Given the description of an element on the screen output the (x, y) to click on. 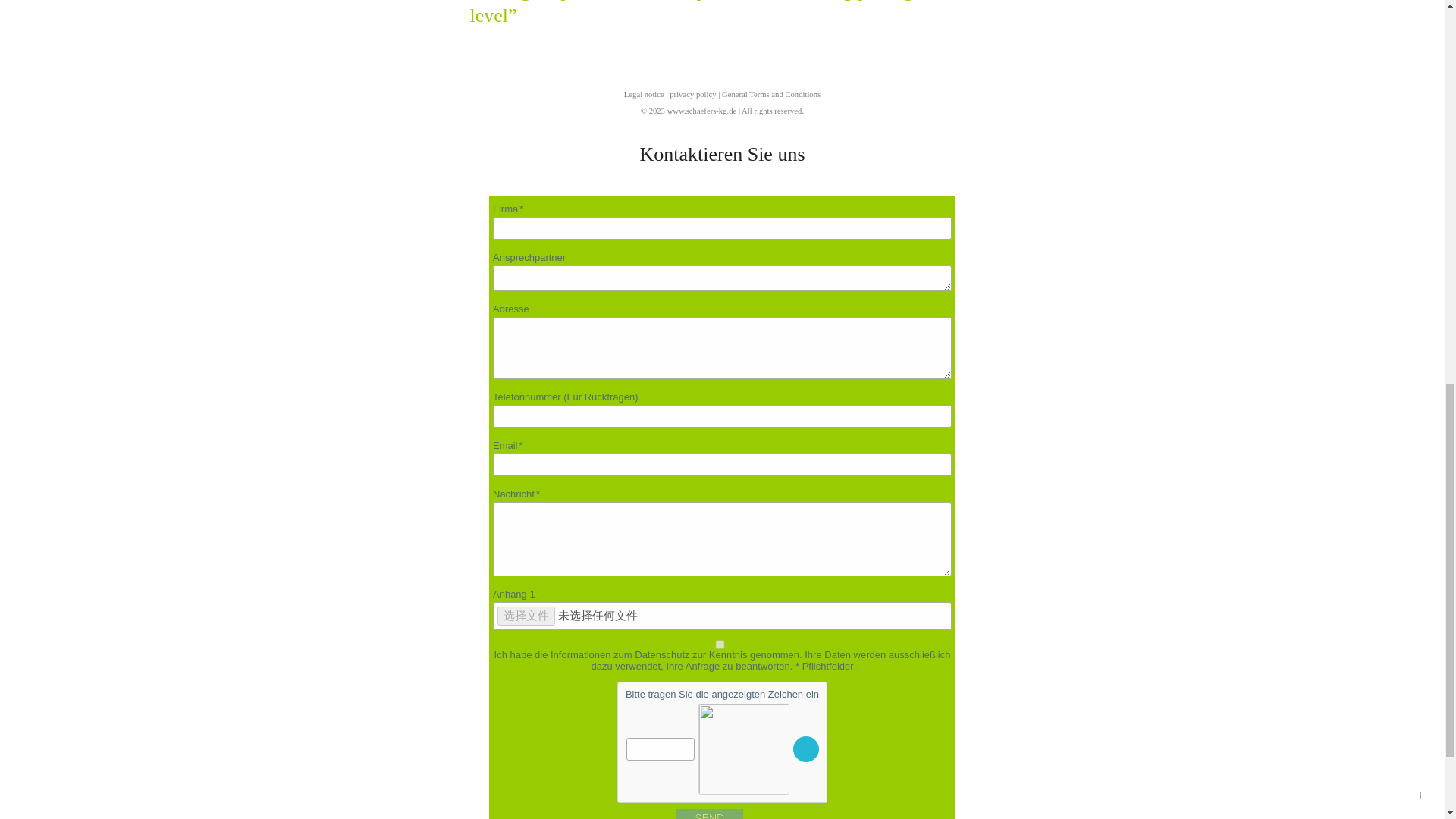
Send (708, 814)
Click to try a different image (805, 749)
1 (718, 644)
